Given the description of an element on the screen output the (x, y) to click on. 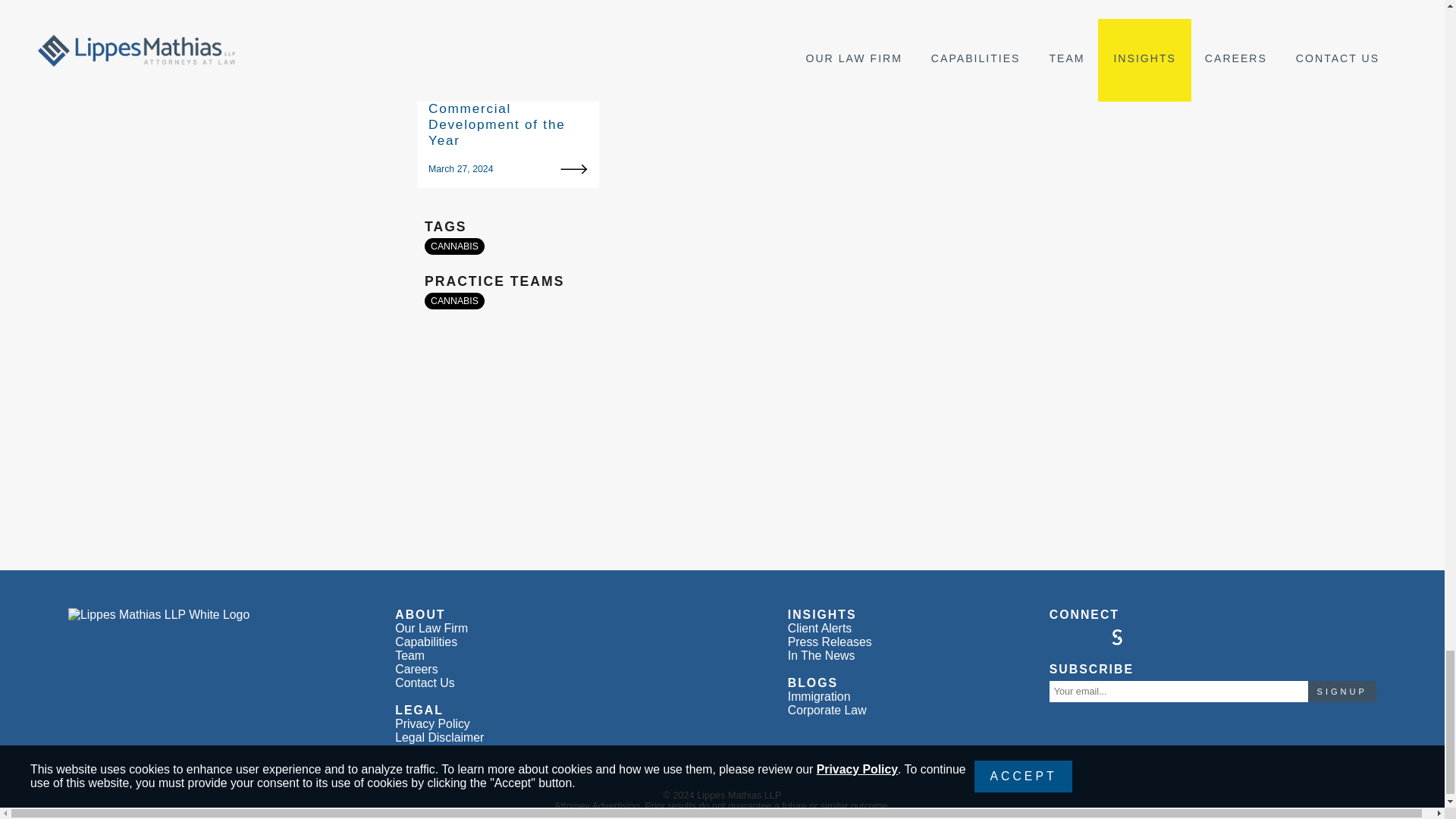
Corporate Law (826, 709)
Press Releases (829, 641)
Capabilities (425, 641)
Legal Disclaimer (438, 737)
Privacy Policy (432, 723)
Immigration (818, 696)
Contact Us (424, 682)
Team (409, 655)
CANNABIS (454, 300)
In The News (821, 655)
